Given the description of an element on the screen output the (x, y) to click on. 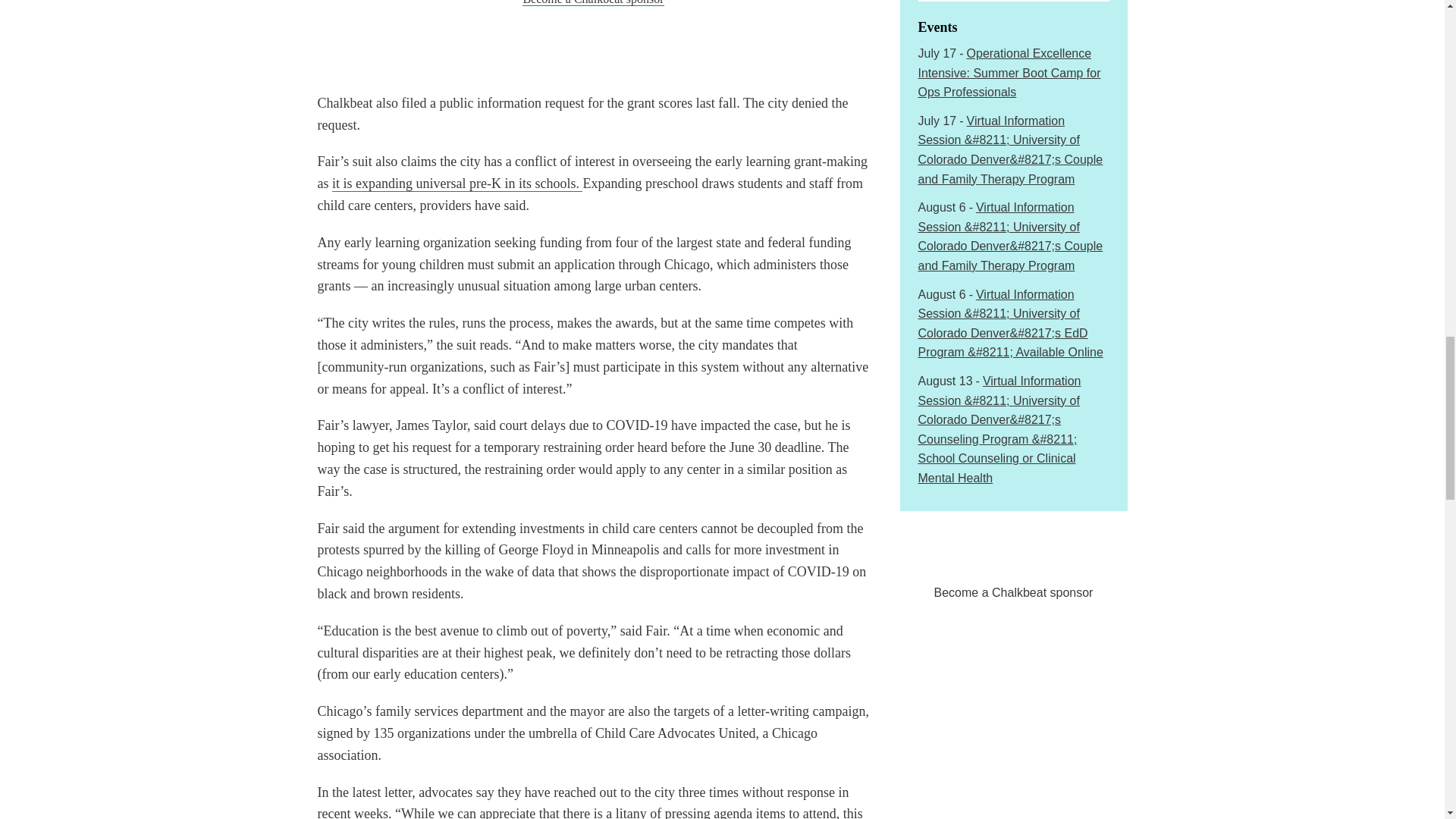
Become a Chalkbeat sponsor (592, 2)
it is expanding universal pre-K in its schools. (456, 183)
